Given the description of an element on the screen output the (x, y) to click on. 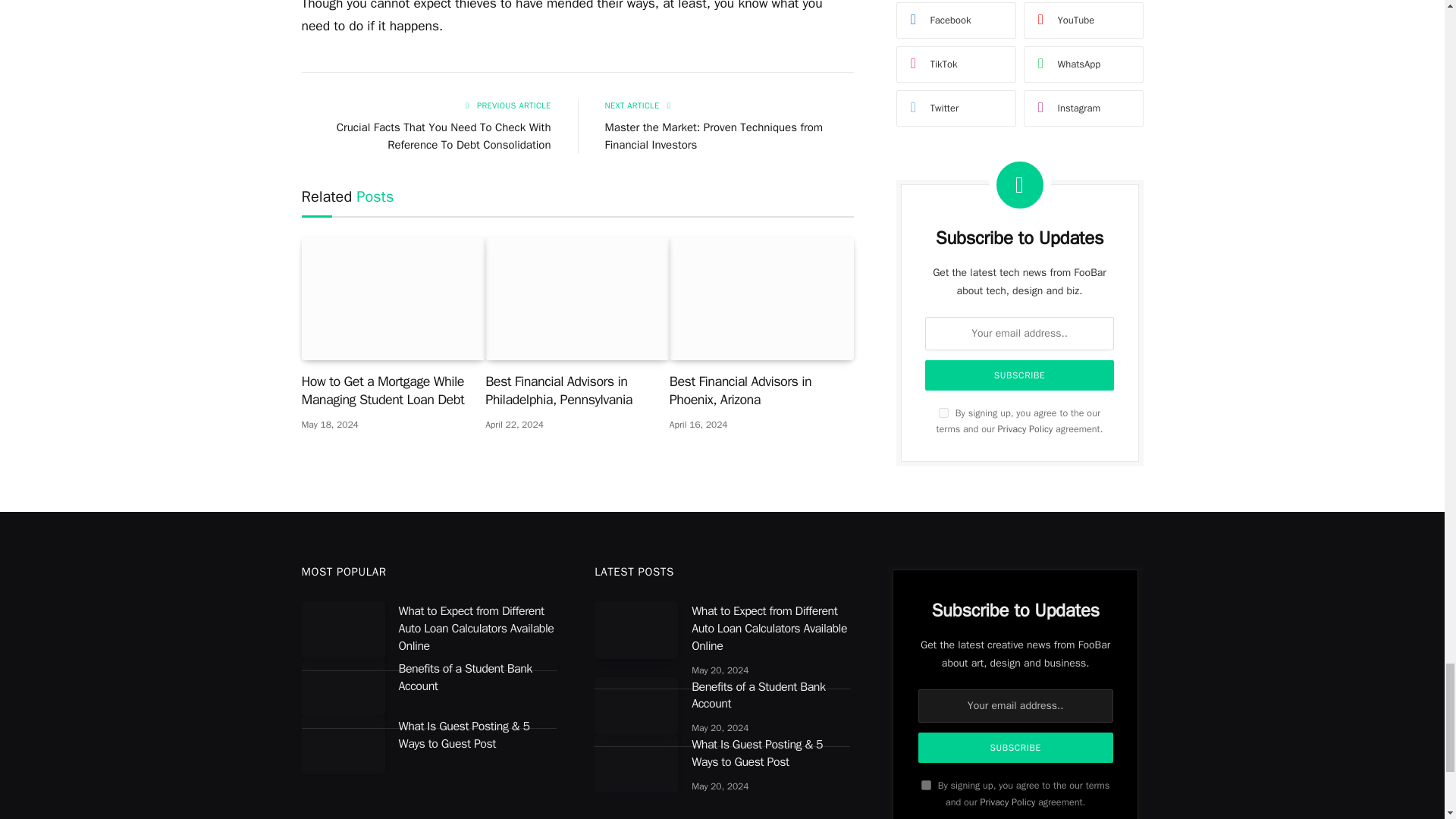
How to Get a Mortgage While Managing Student Loan Debt (393, 298)
Best Financial Advisors in Philadelphia, Pennsylvania (576, 298)
on (926, 785)
Subscribe (1015, 747)
